Given the description of an element on the screen output the (x, y) to click on. 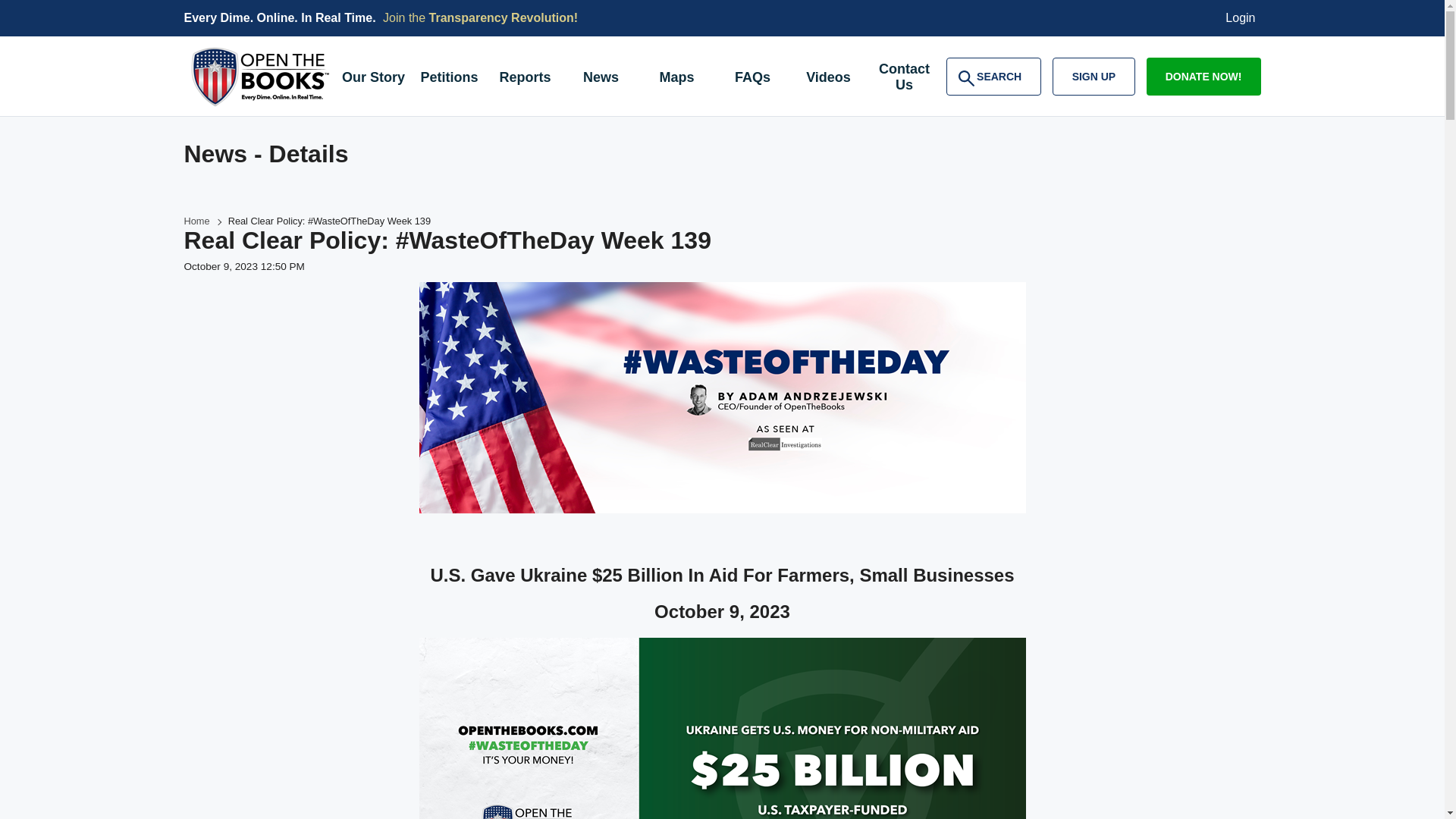
News (600, 78)
Videos (828, 78)
Reports (524, 78)
SIGN UP (1093, 76)
Petitions (448, 78)
DONATE NOW! (1203, 76)
Contact Us (904, 78)
FAQs (752, 78)
Home (196, 220)
Maps (676, 78)
Transparency Revolution! (503, 17)
Login (1240, 18)
Our Story (372, 78)
